Given the description of an element on the screen output the (x, y) to click on. 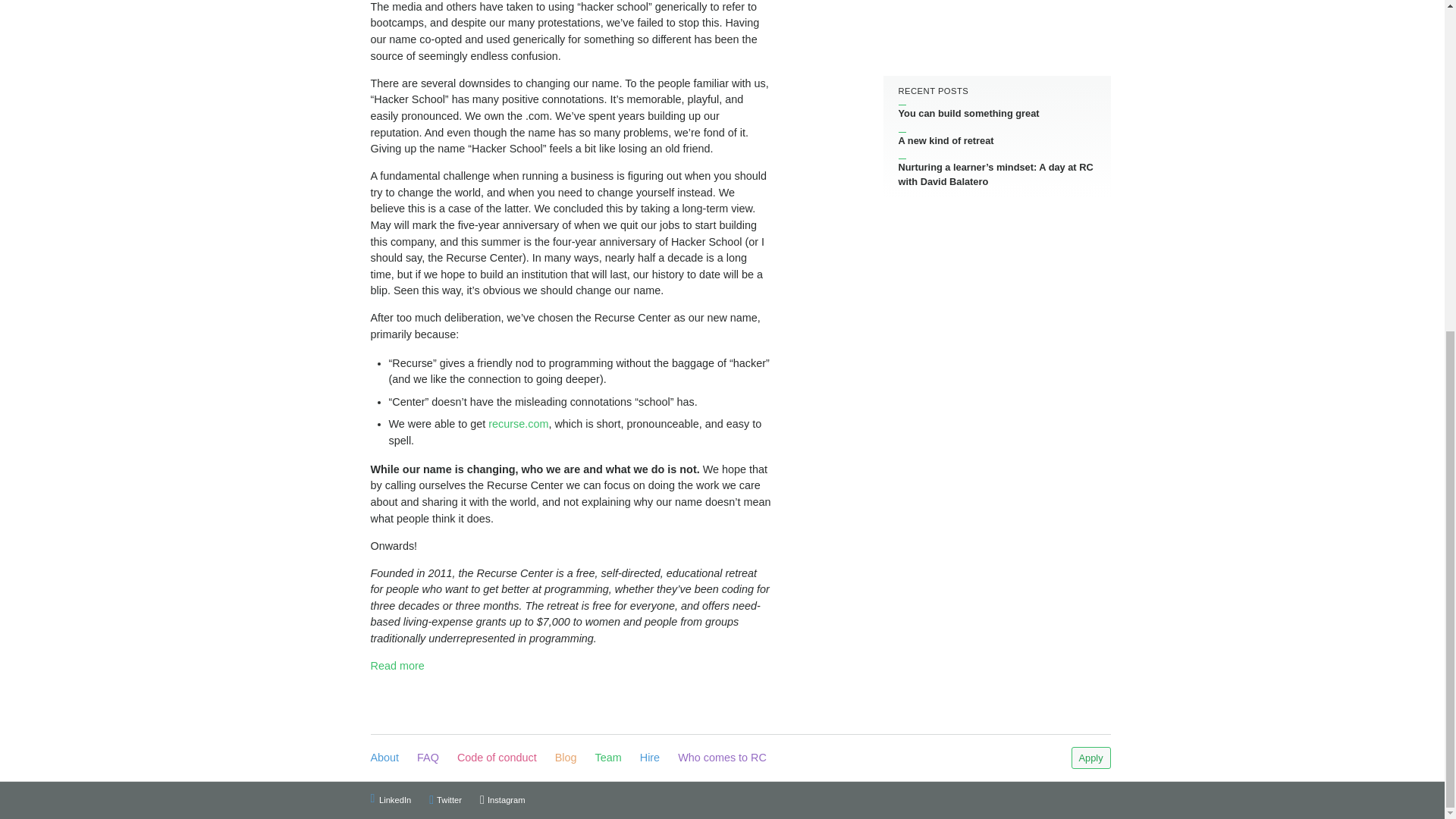
Hire (649, 758)
Twitter (445, 799)
Instagram (502, 799)
FAQ (427, 758)
Who comes to RC (722, 758)
Read more (396, 665)
recurse.com (517, 423)
Blog (565, 758)
LinkedIn (389, 799)
About (383, 758)
Team (608, 758)
Apply (1090, 757)
Code of conduct (497, 758)
